Given the description of an element on the screen output the (x, y) to click on. 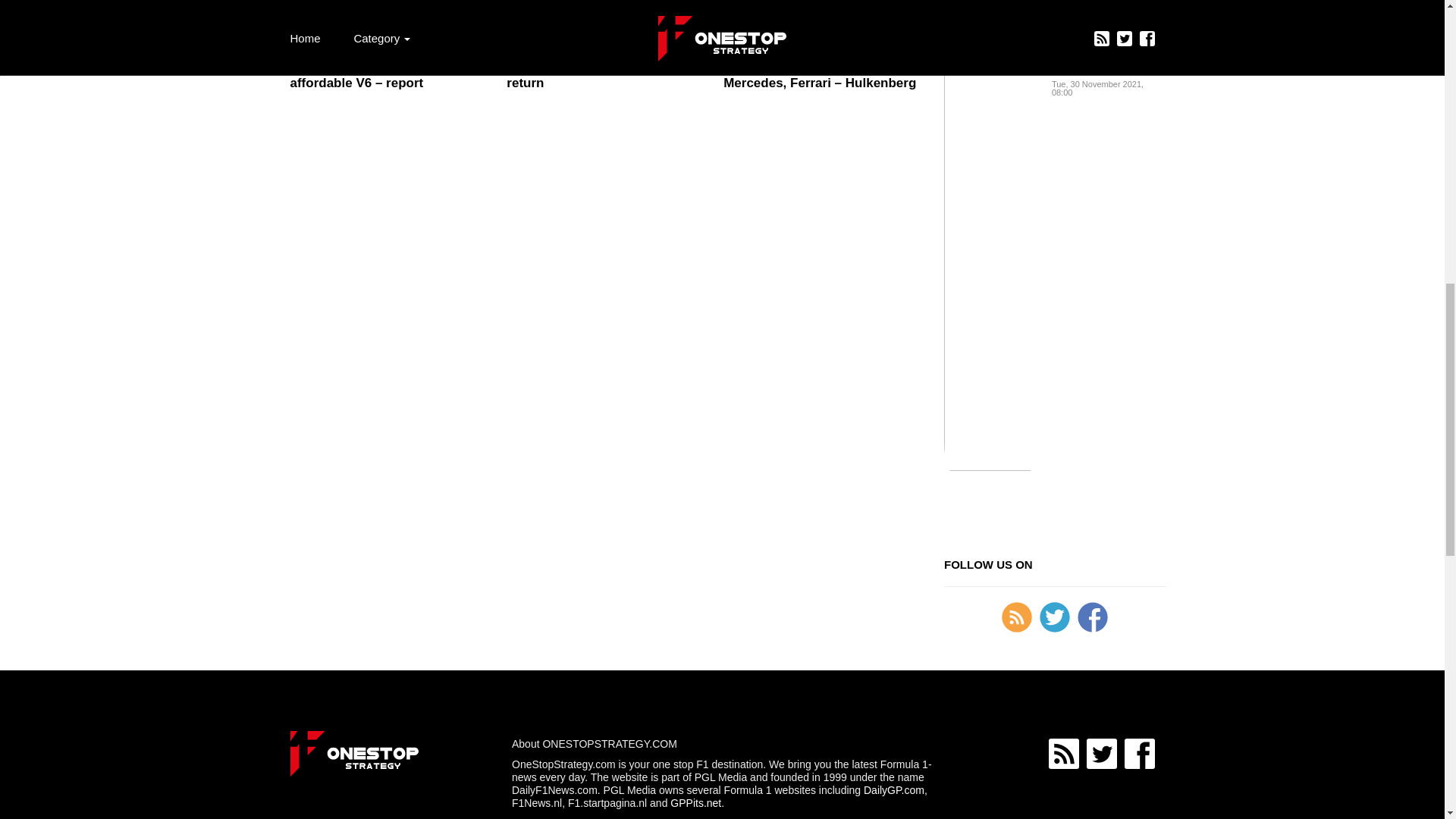
Red Bull (1073, 23)
Cosworth not ruling out F1 return (603, 74)
Sergio Perez (1128, 23)
